Given the description of an element on the screen output the (x, y) to click on. 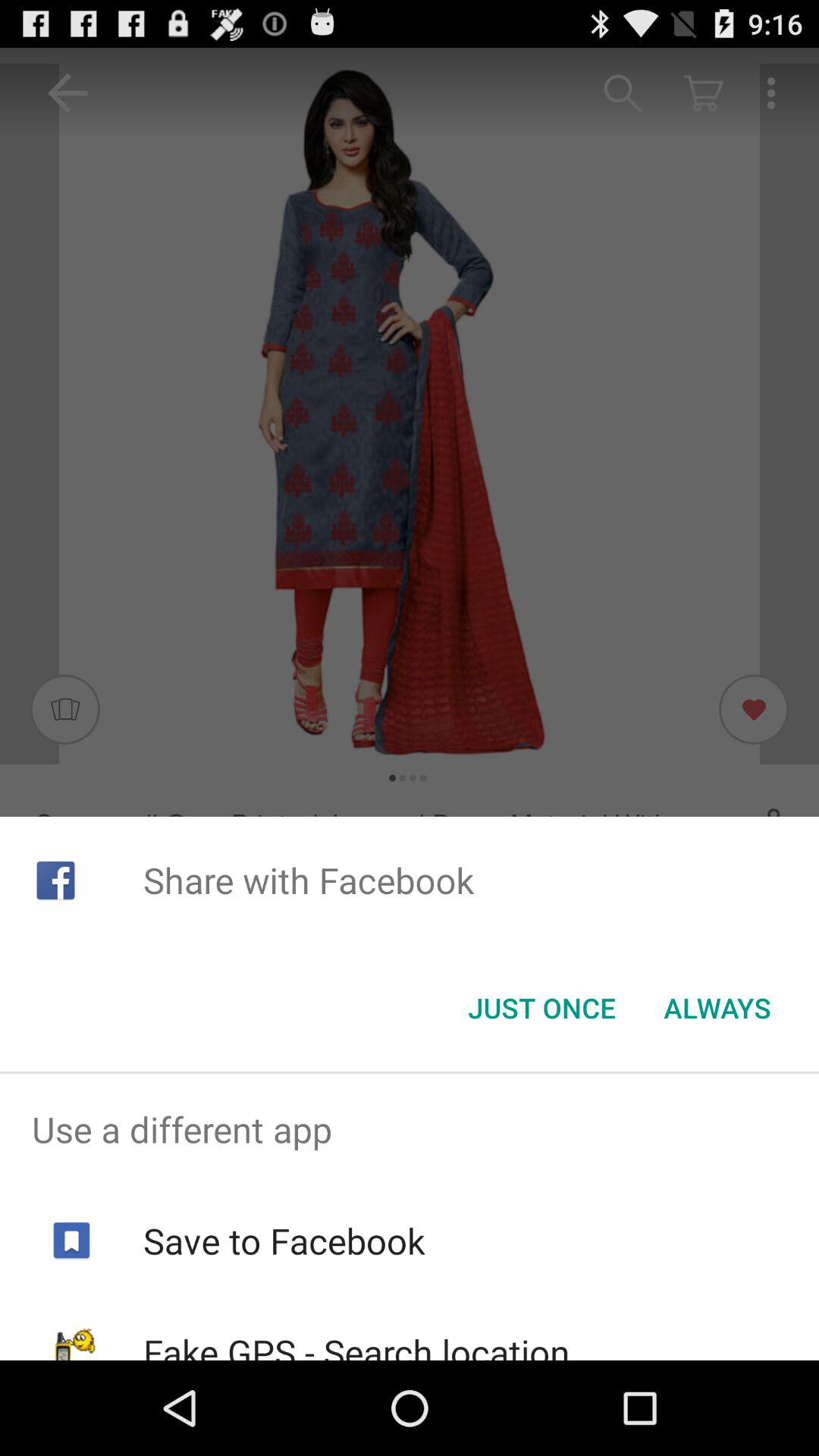
turn on always item (717, 1007)
